Given the description of an element on the screen output the (x, y) to click on. 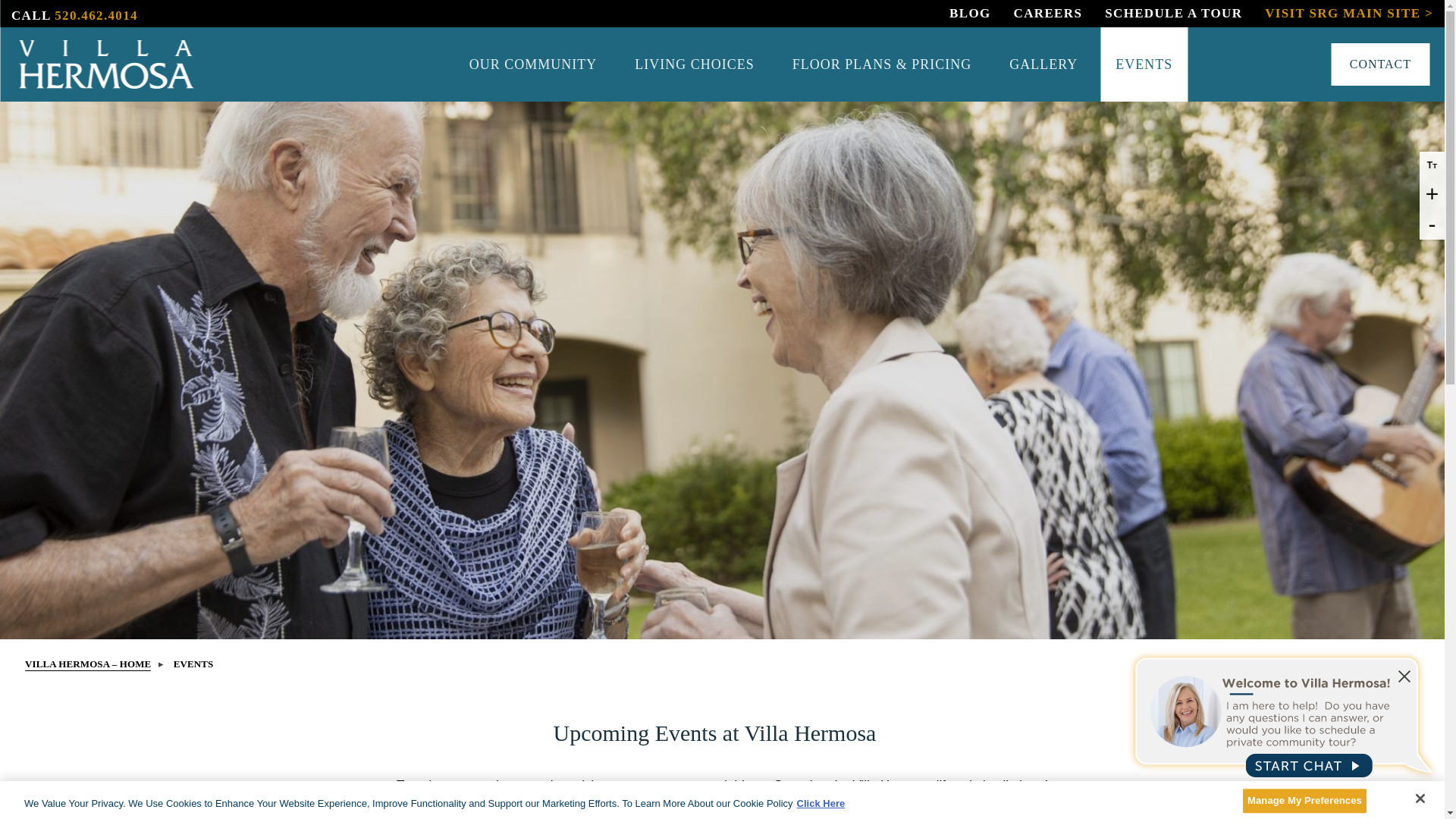
CALL 520.462.4014 (74, 14)
Villa Hermosa (105, 63)
CAREERS (1048, 13)
BLOG (969, 13)
EVENTS (1144, 64)
GALLERY (1043, 64)
OUR COMMUNITY (533, 64)
CONTACT (1380, 64)
LIVING CHOICES (695, 64)
SCHEDULE A TOUR (1173, 13)
